Given the description of an element on the screen output the (x, y) to click on. 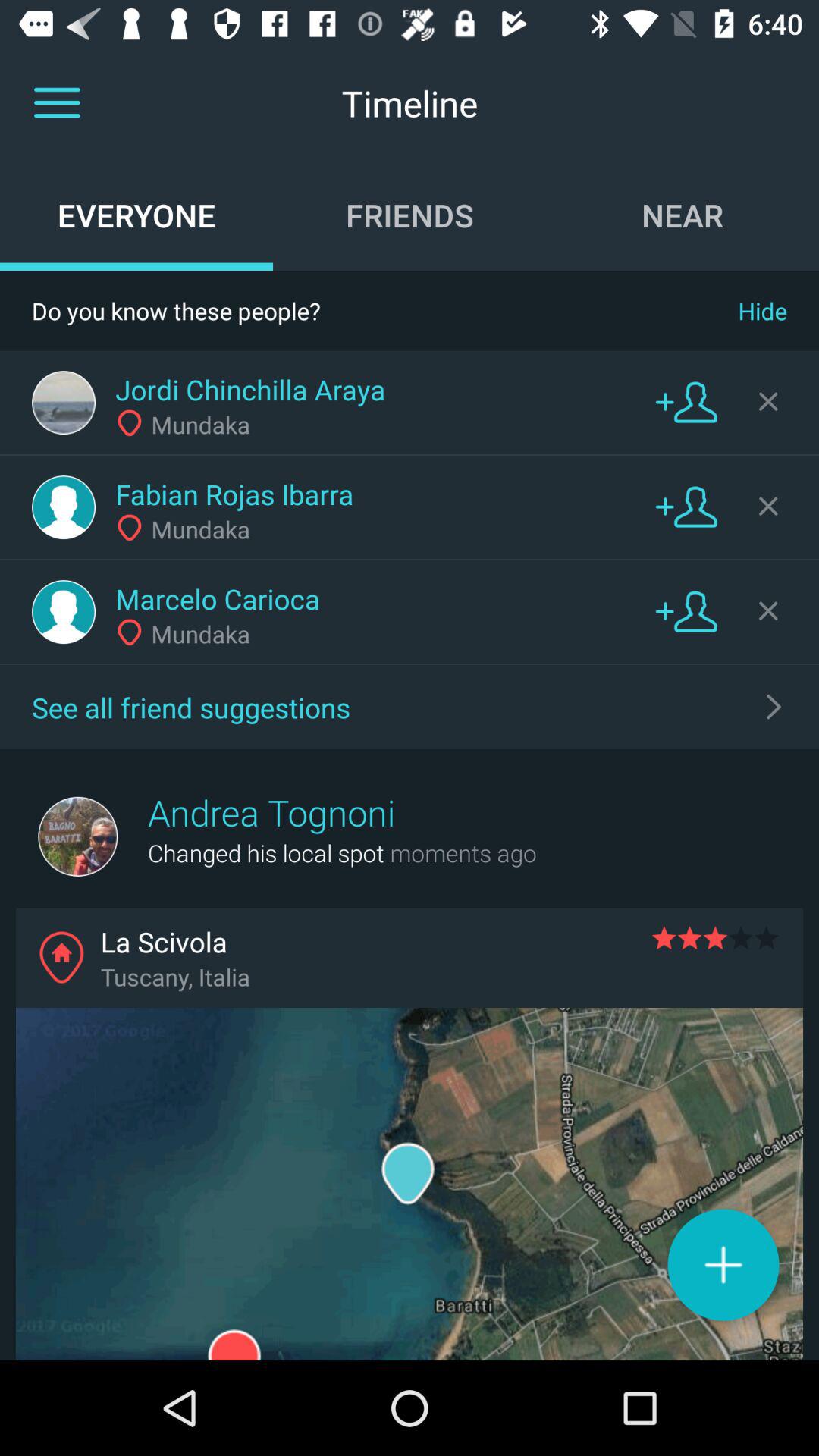
see all friend suggestions (774, 706)
